Given the description of an element on the screen output the (x, y) to click on. 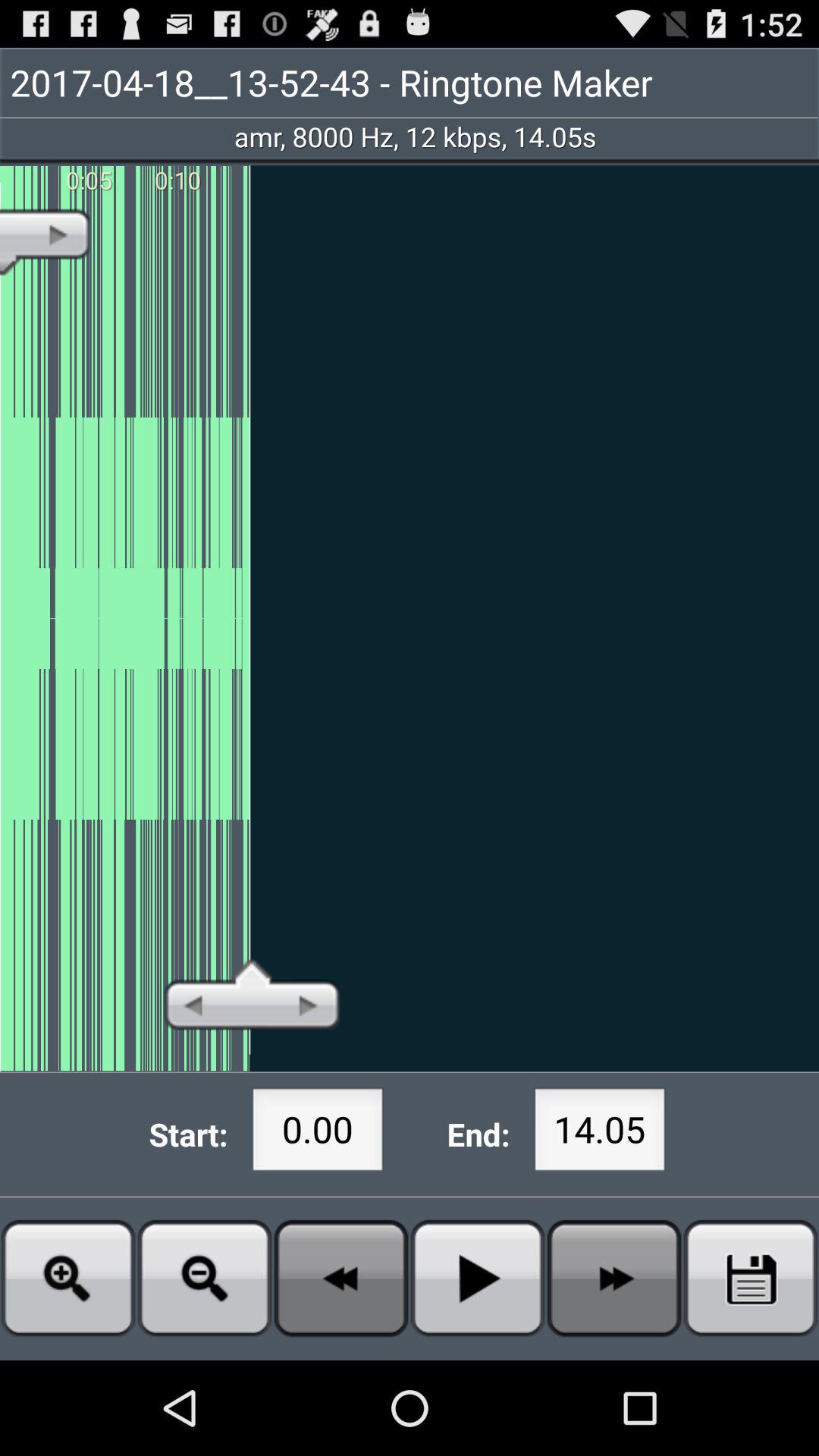
zoom out (204, 1278)
